Given the description of an element on the screen output the (x, y) to click on. 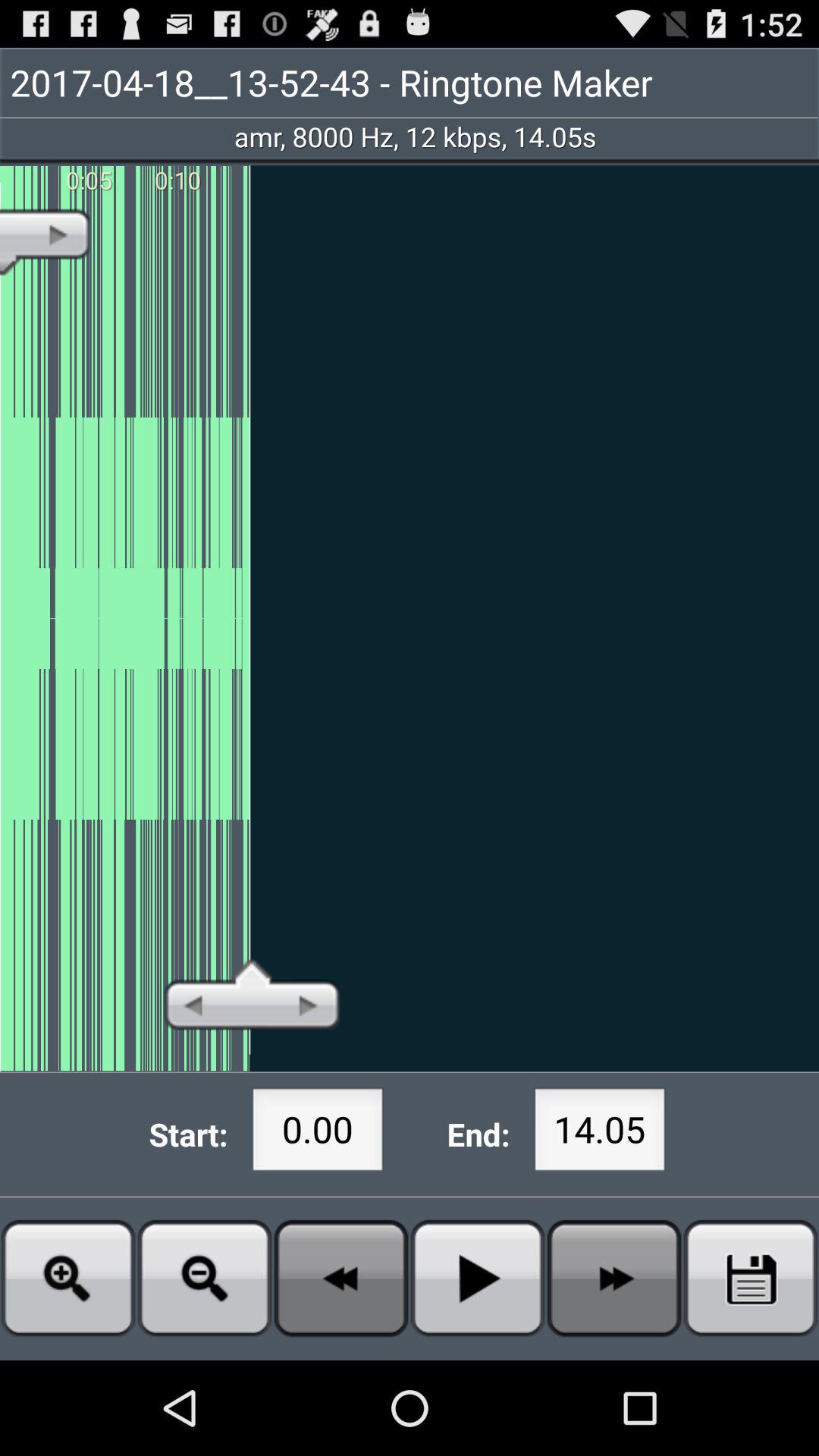
zoom out (204, 1278)
